Given the description of an element on the screen output the (x, y) to click on. 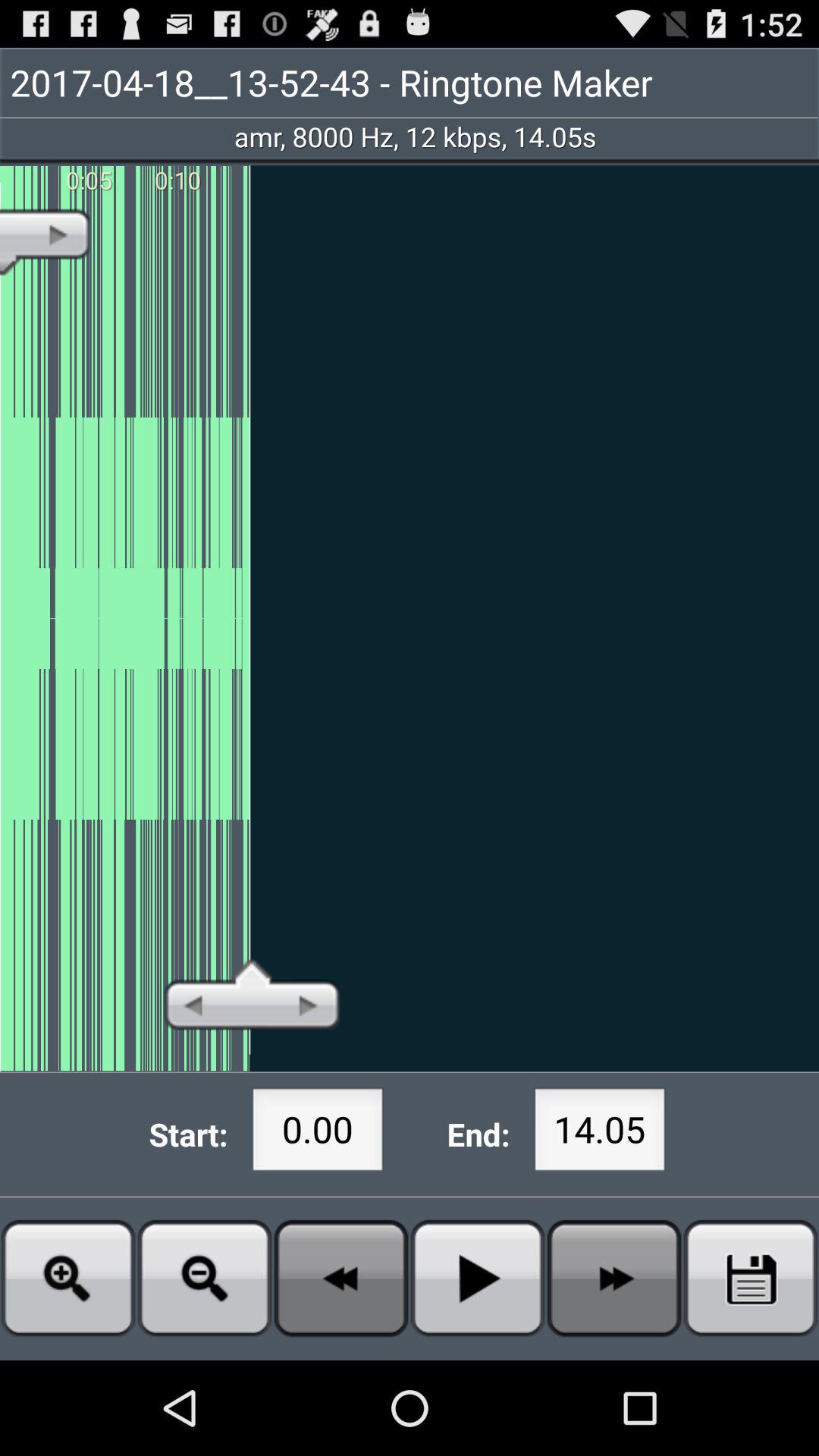
zoom out (204, 1278)
